Given the description of an element on the screen output the (x, y) to click on. 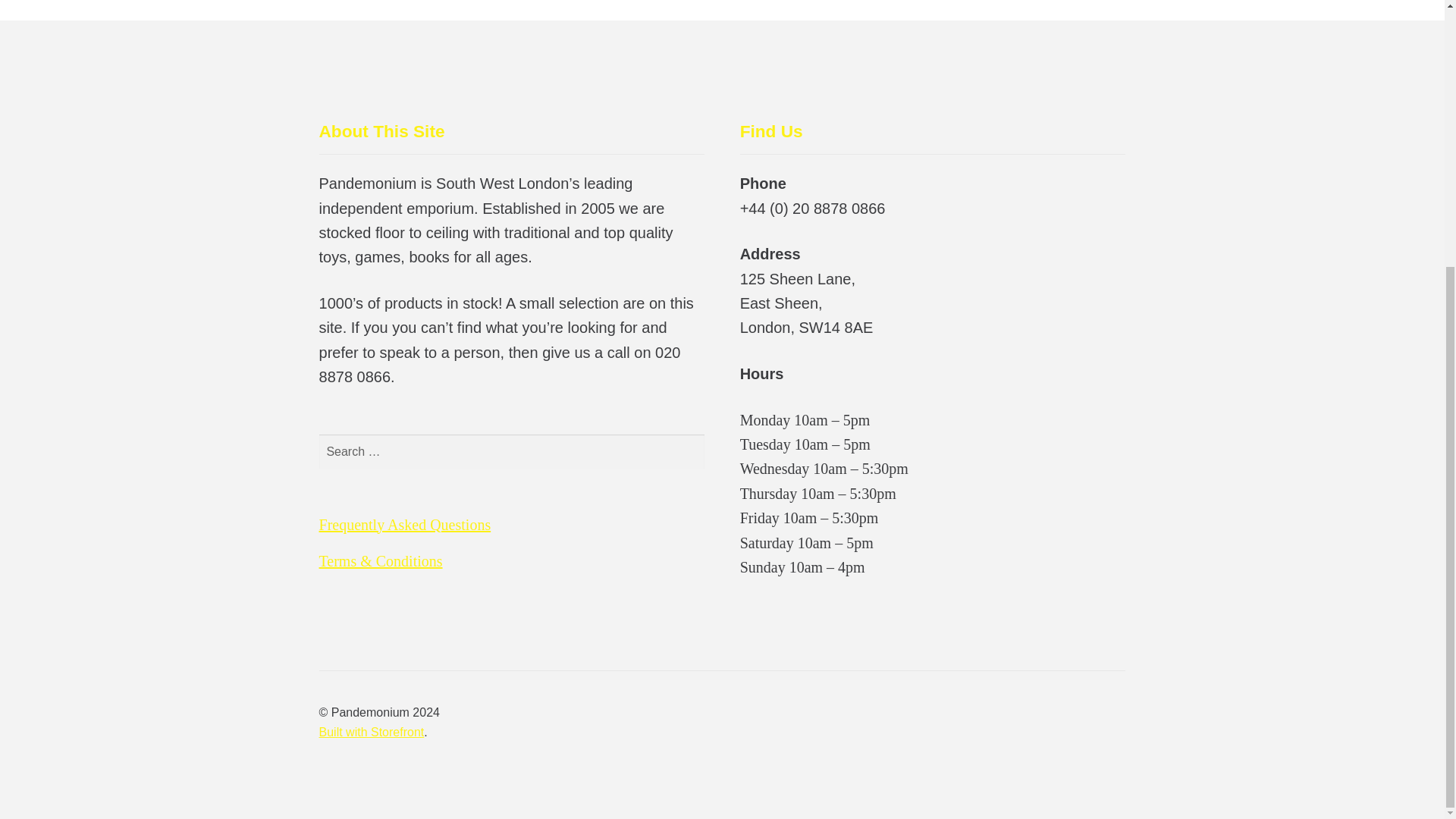
Built with Storefront (371, 731)
Frequently Asked Questions (405, 524)
